Given the description of an element on the screen output the (x, y) to click on. 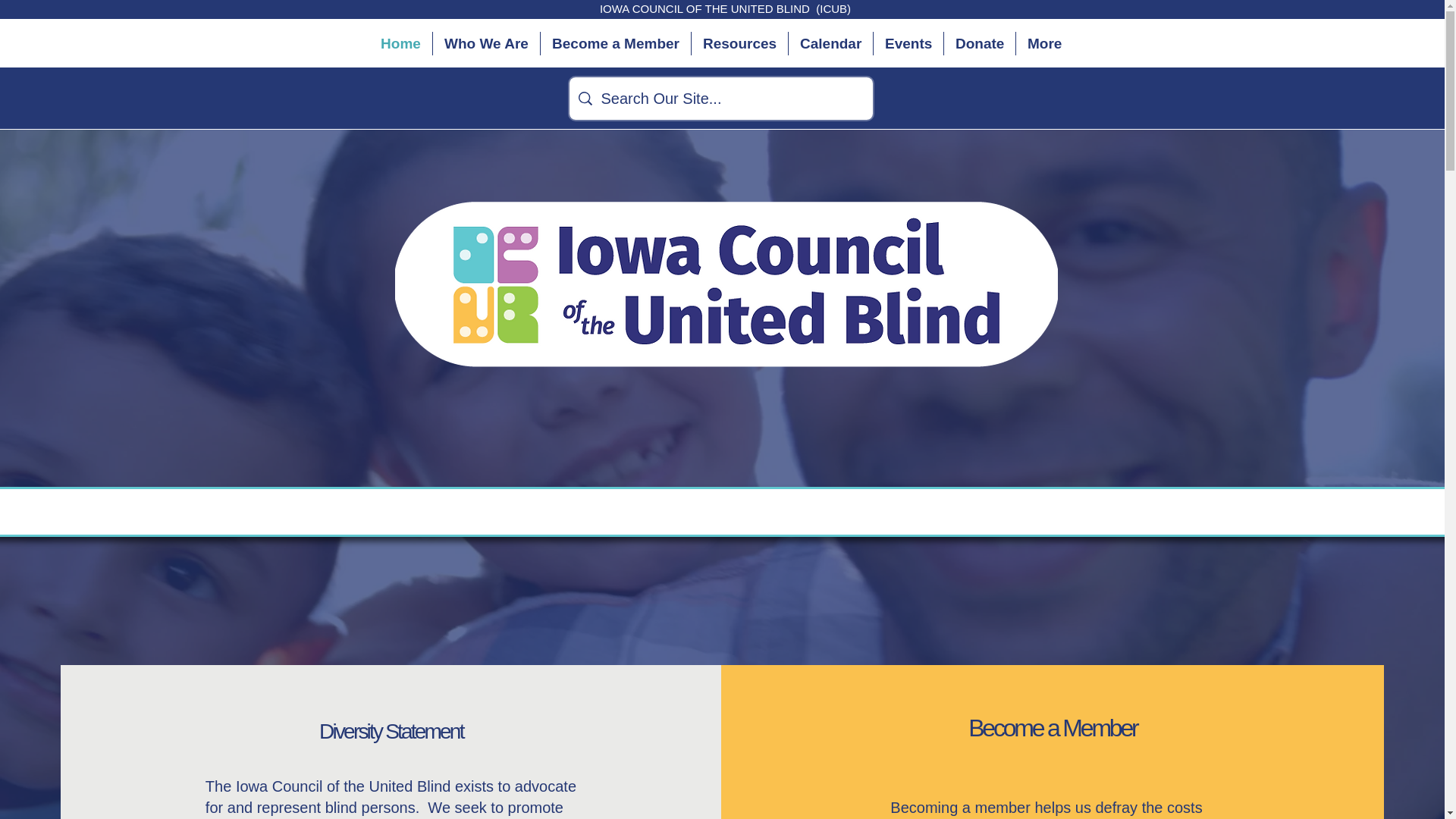
Home (400, 43)
Donate (978, 43)
Resources (739, 43)
Events (908, 43)
Who We Are (486, 43)
Become a Member (615, 43)
Calendar (830, 43)
